Given the description of an element on the screen output the (x, y) to click on. 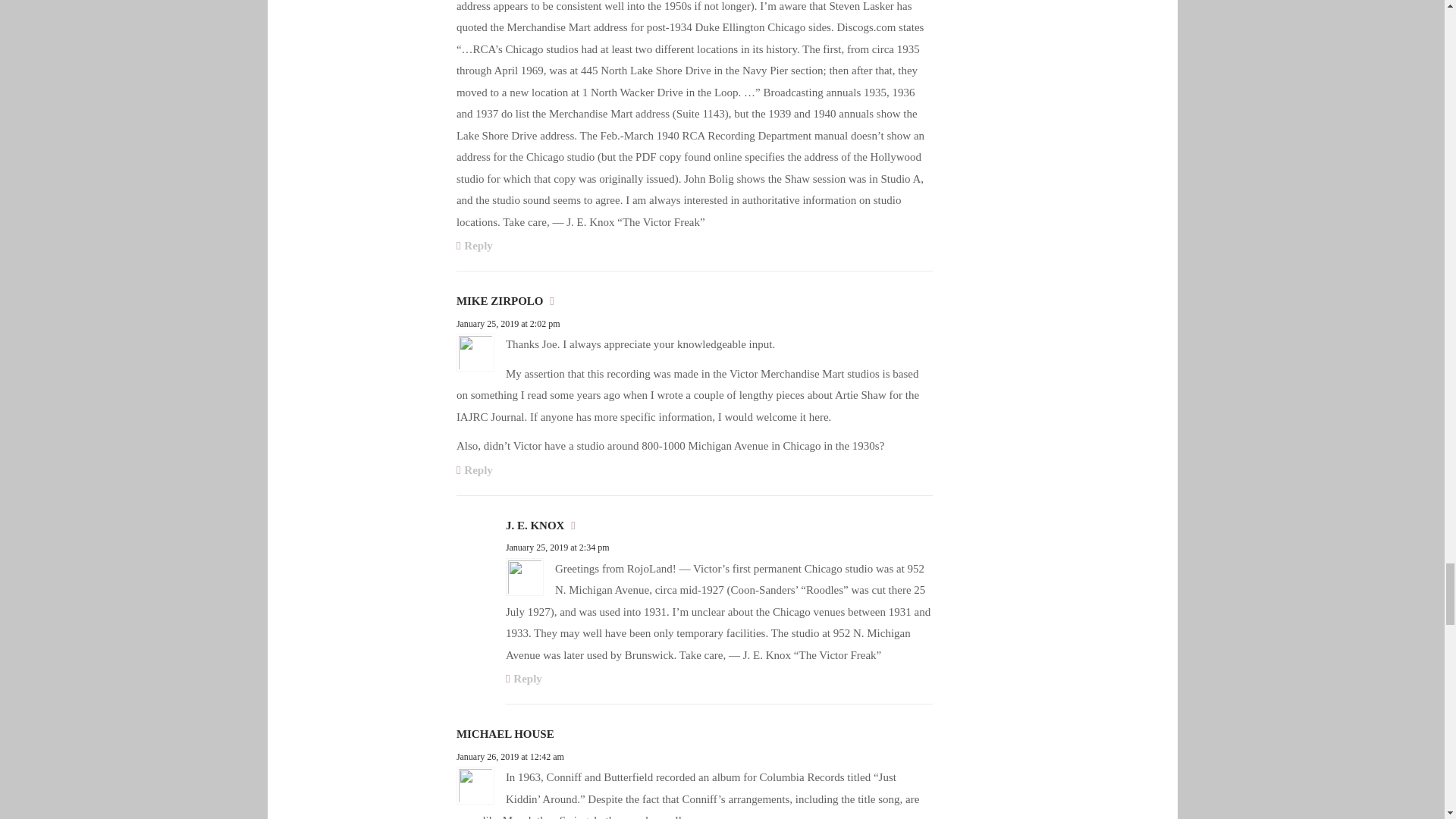
Reply (475, 245)
